Given the description of an element on the screen output the (x, y) to click on. 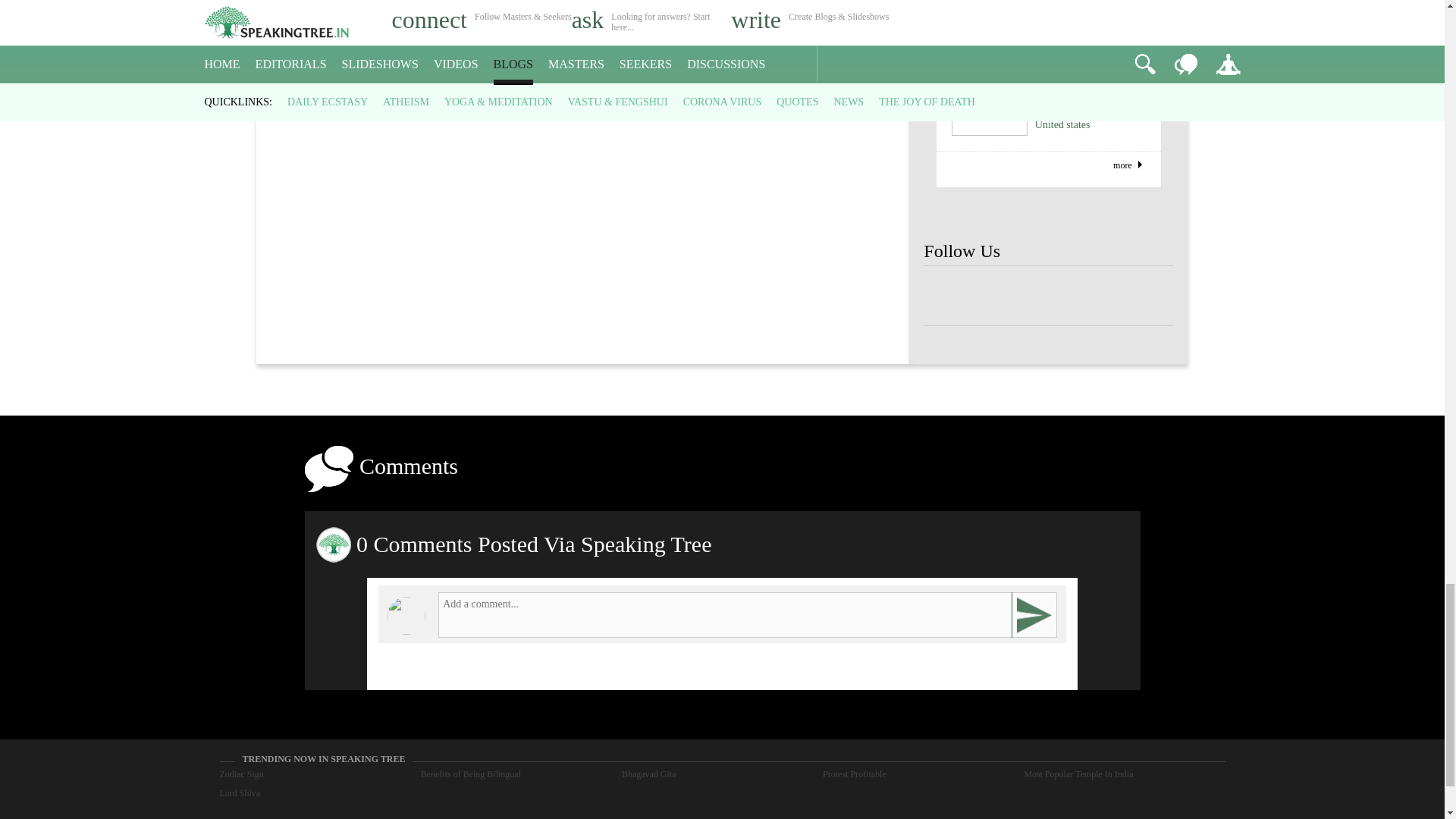
Speaking Tree FaceBook (998, 296)
Speaking Tree FaceBook (1099, 296)
Speaking Tree FaceBook (1147, 296)
Speaking Tree FaceBook (1048, 296)
Speaking Tree FaceBook (948, 296)
